Given the description of an element on the screen output the (x, y) to click on. 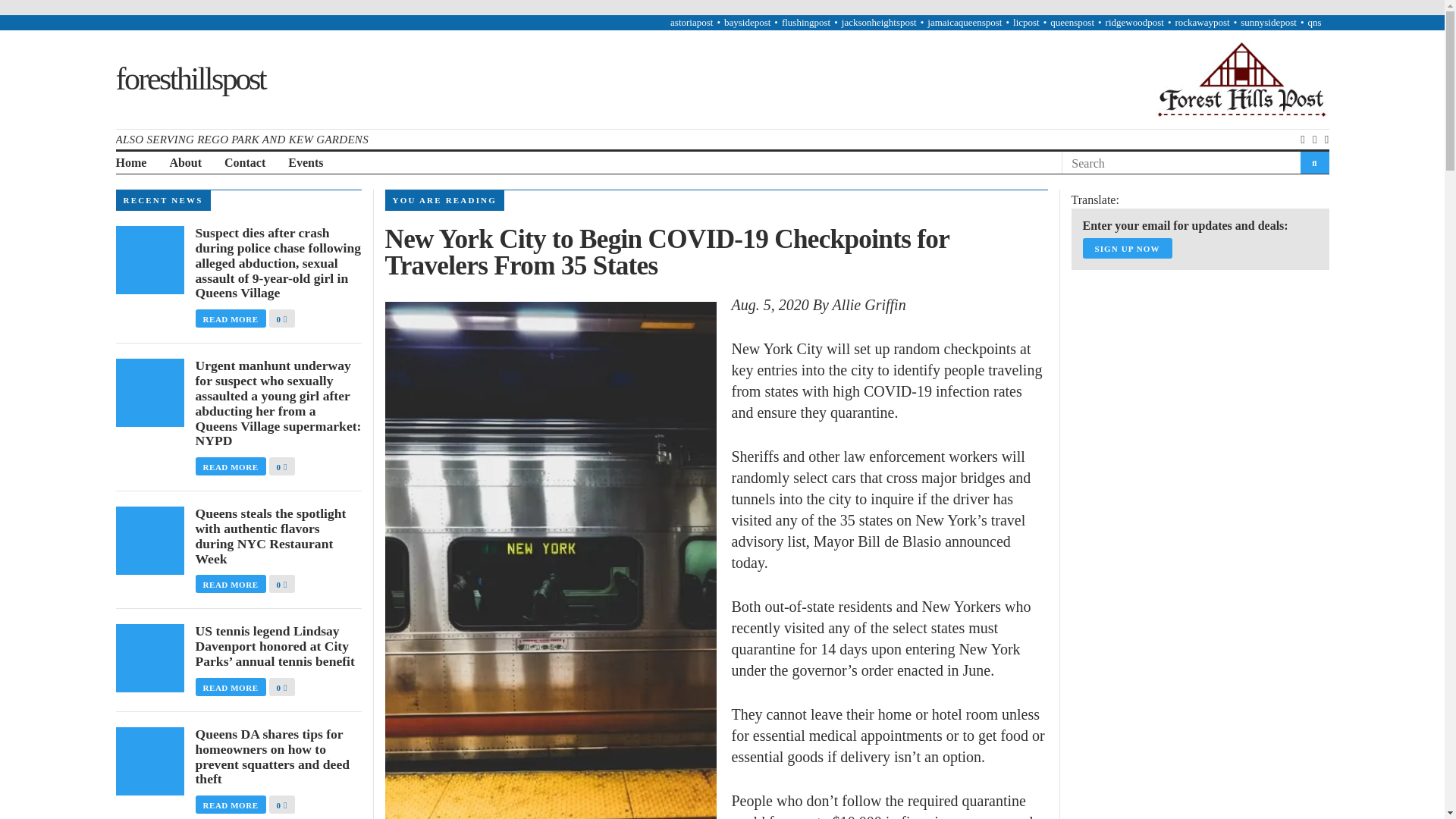
About (185, 163)
jacksonheightspost (879, 21)
rockawaypost (1201, 21)
Contact (244, 163)
Events (305, 163)
licpost (1026, 21)
ridgewoodpost (1134, 21)
foresthillspost (189, 78)
baysidepost (746, 21)
qns (1313, 21)
